Given the description of an element on the screen output the (x, y) to click on. 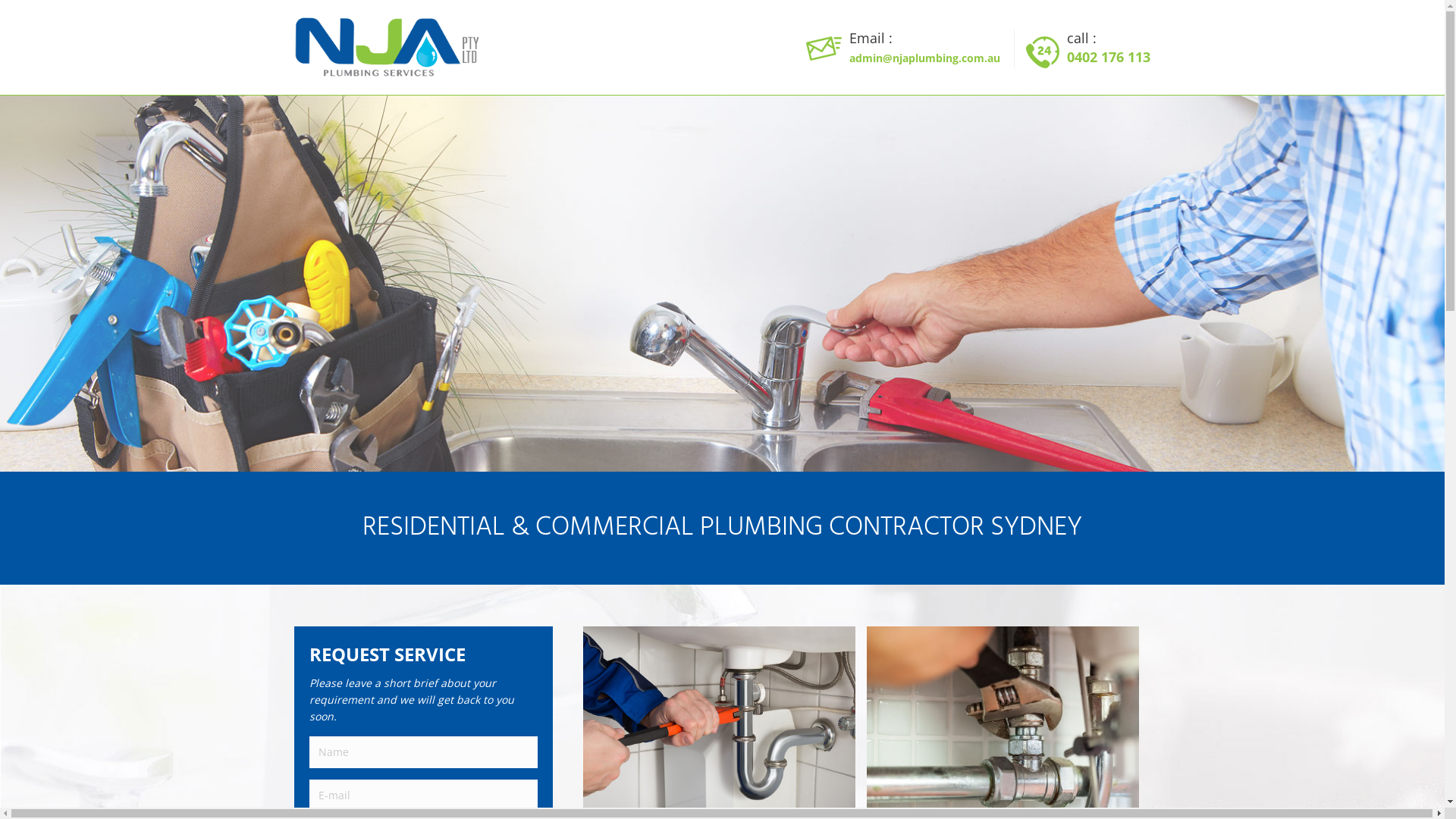
admin@njaplumbing.com.au Element type: text (924, 57)
